Given the description of an element on the screen output the (x, y) to click on. 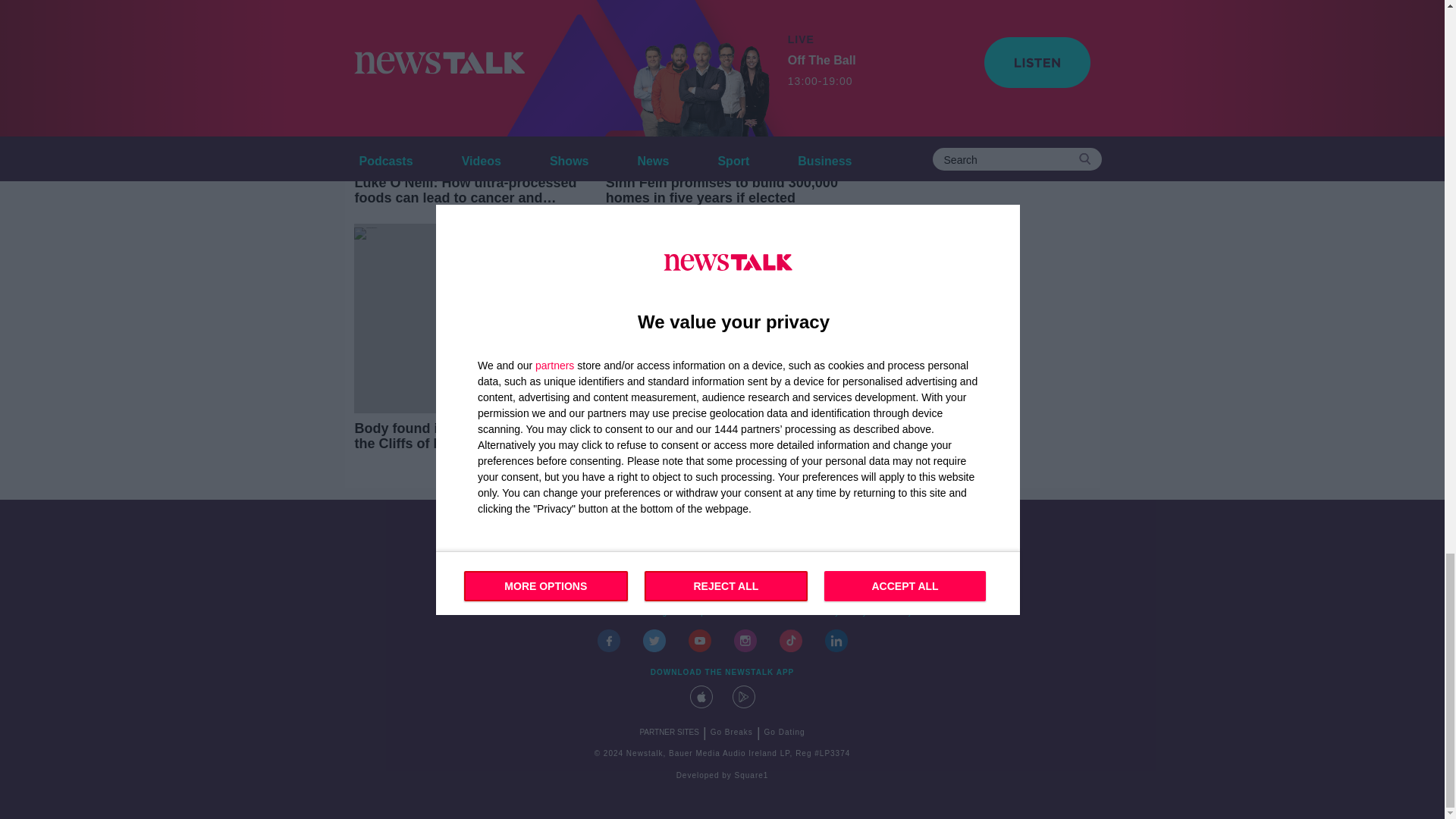
site terms (772, 612)
competitions (708, 612)
advertising (644, 612)
Privacy (897, 612)
events (592, 612)
Privacy Policy (838, 612)
contact (547, 612)
